Given the description of an element on the screen output the (x, y) to click on. 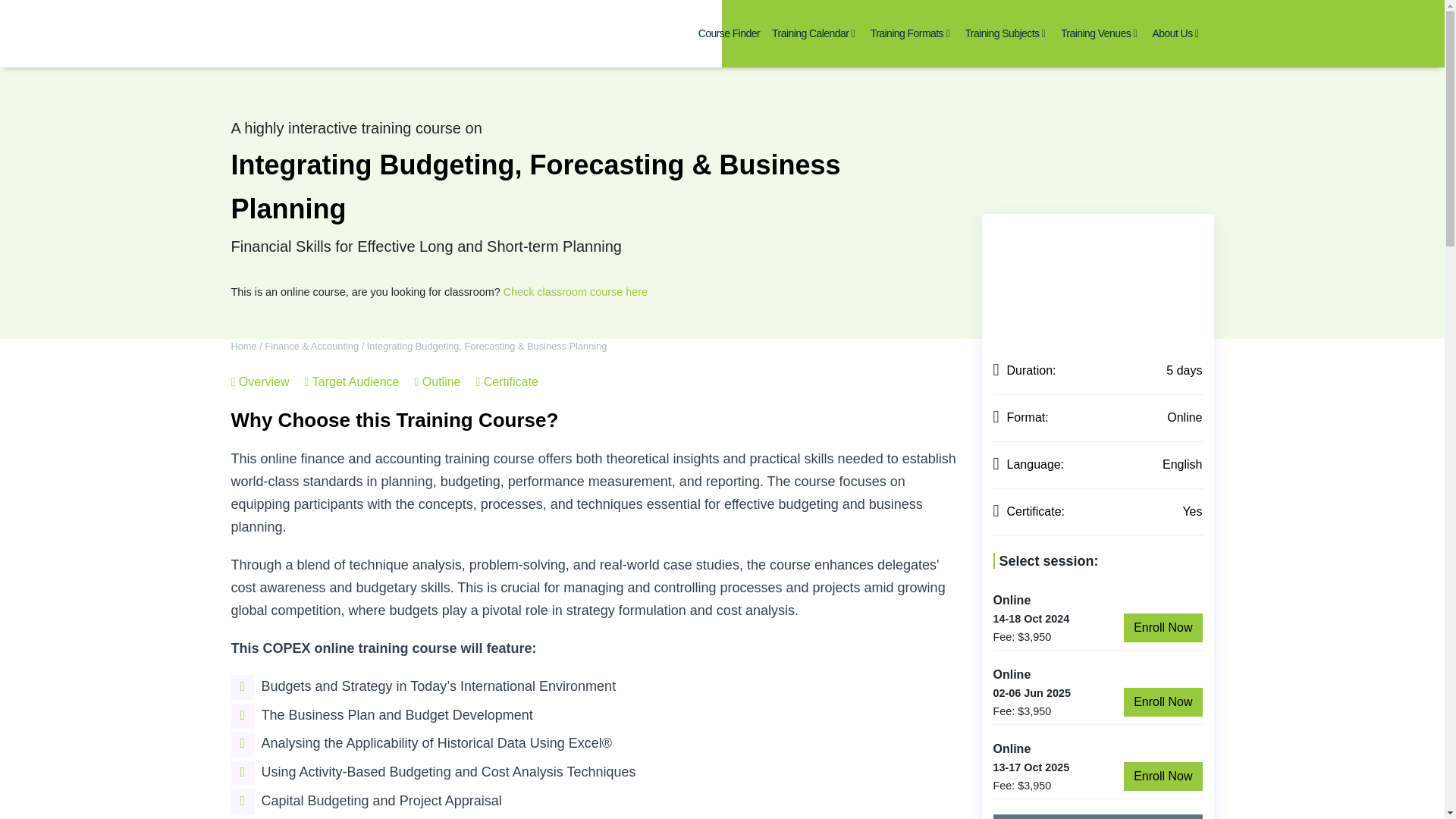
Training Formats (909, 33)
Training Subjects (1004, 33)
Training Calendar (812, 33)
Training Venues (1099, 33)
Course Finder (729, 33)
